Given the description of an element on the screen output the (x, y) to click on. 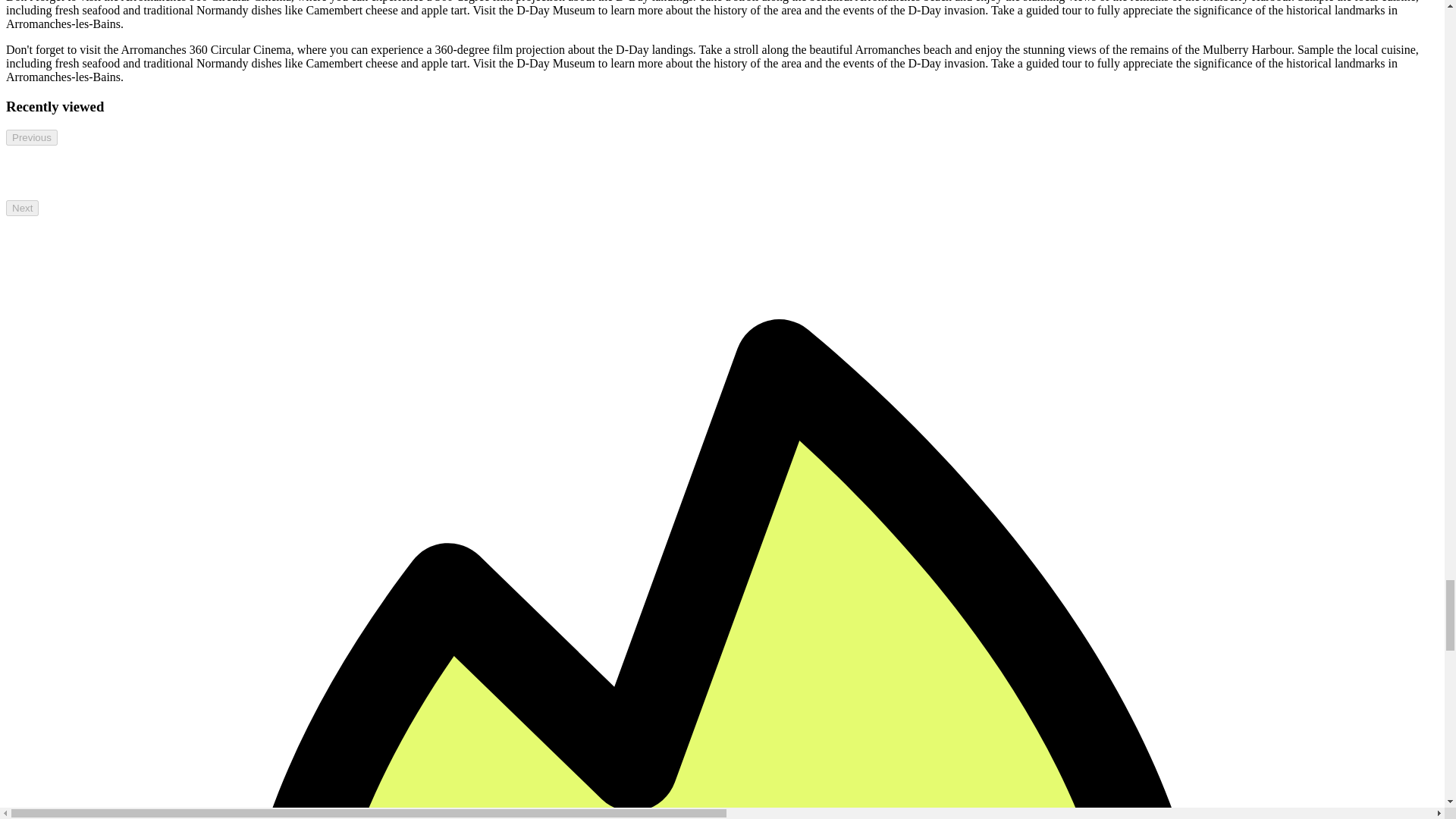
Previous (31, 136)
Next (22, 207)
